Given the description of an element on the screen output the (x, y) to click on. 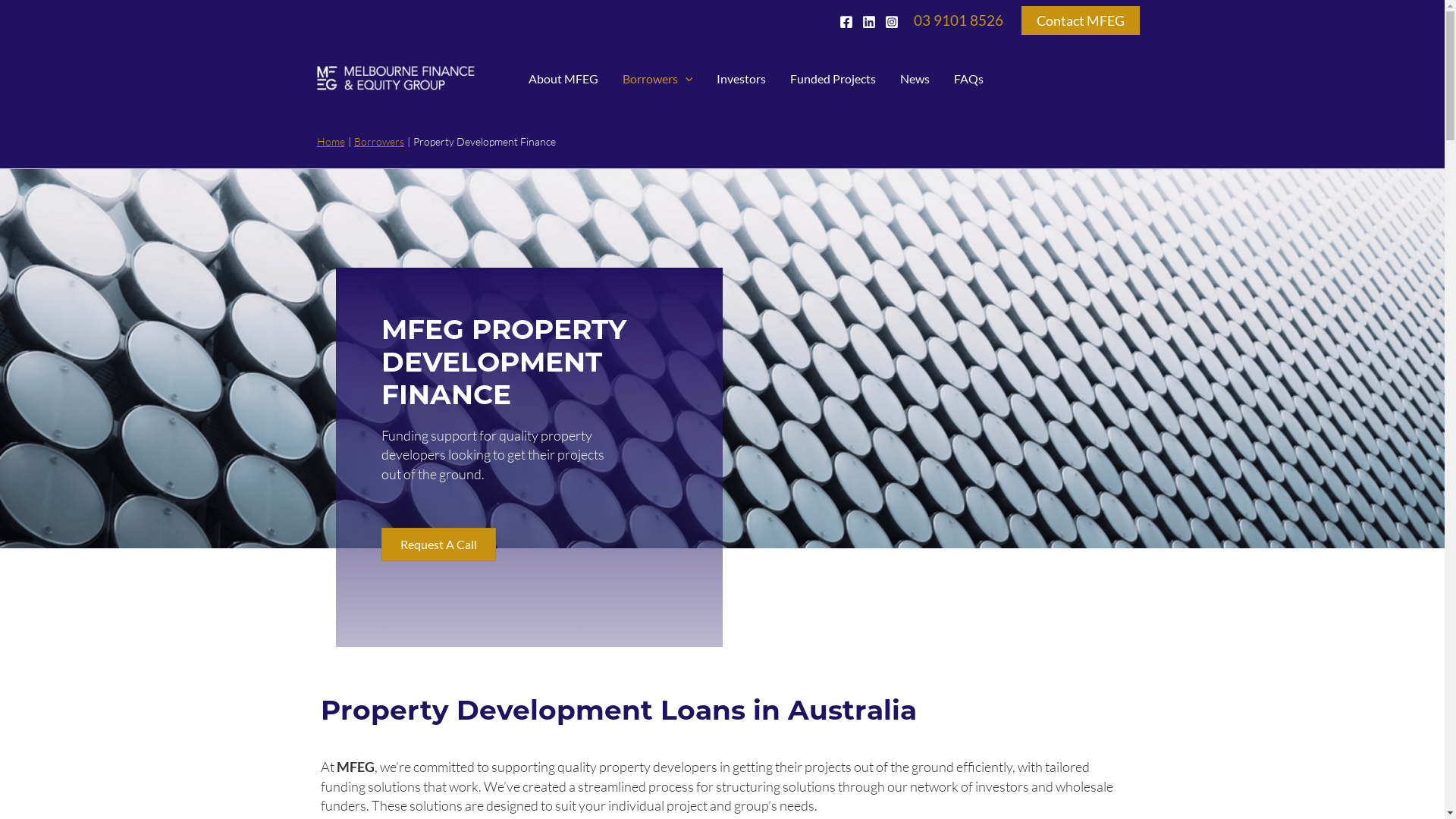
Funded Projects Element type: text (833, 77)
Investors Element type: text (741, 77)
News Element type: text (914, 77)
About MFEG Element type: text (562, 77)
Borrowers Element type: text (656, 77)
Request A Call Element type: text (437, 544)
Contact MFEG Element type: text (1079, 20)
03 9101 8526  Element type: text (959, 20)
Home Element type: text (330, 140)
Borrowers Element type: text (379, 140)
FAQs Element type: text (968, 77)
